Given the description of an element on the screen output the (x, y) to click on. 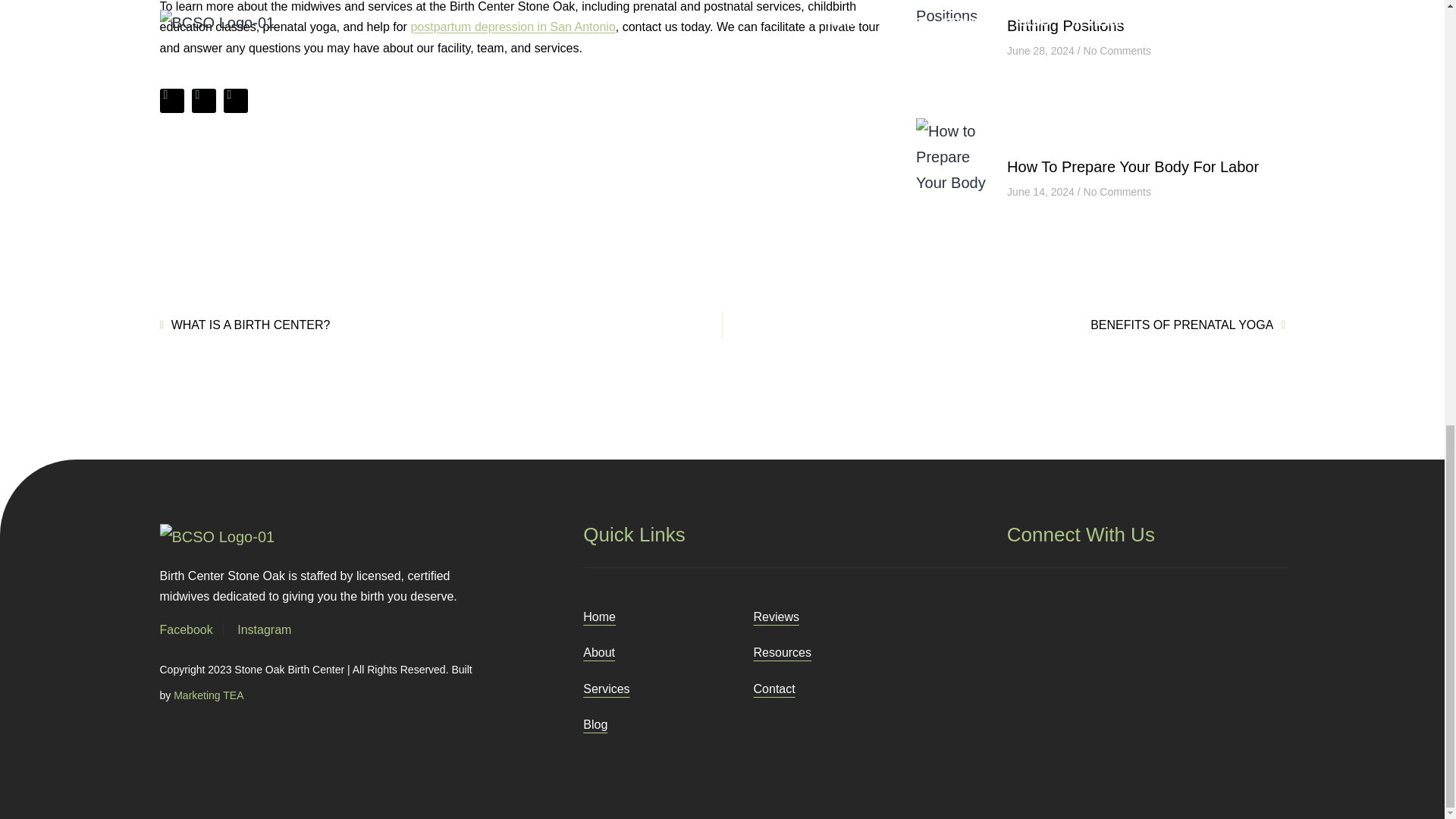
BENEFITS OF PRENATAL YOGA (1003, 325)
Instagram (264, 629)
Services (615, 688)
postpartum depression in San Antonio (512, 26)
Marketing TEA (208, 695)
Facebook (185, 629)
WHAT IS A BIRTH CENTER? (440, 325)
BCSO Logo-01 (216, 536)
Home (608, 616)
About (608, 652)
